Given the description of an element on the screen output the (x, y) to click on. 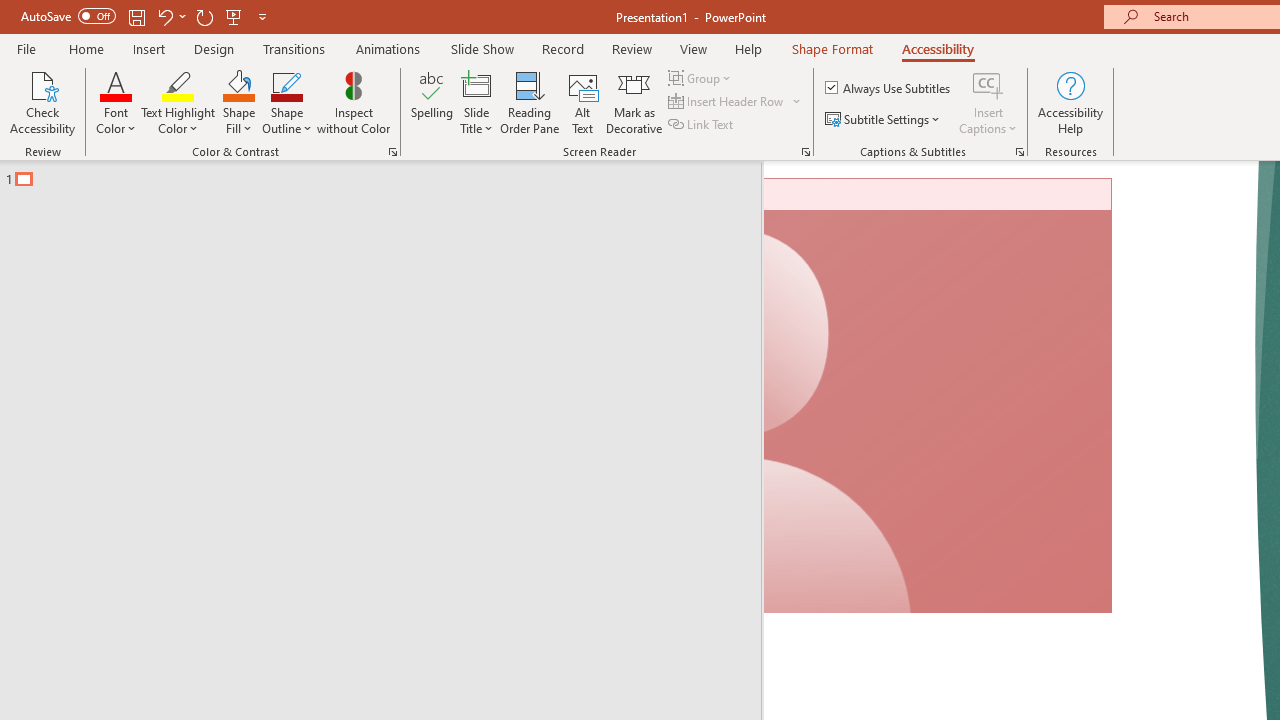
Outline (389, 174)
Color & Contrast (392, 151)
Insert Captions (988, 102)
Always Use Subtitles (889, 87)
Shape Format (832, 48)
Slide Title (476, 84)
Link Text (702, 124)
Insert Header Row (735, 101)
